Given the description of an element on the screen output the (x, y) to click on. 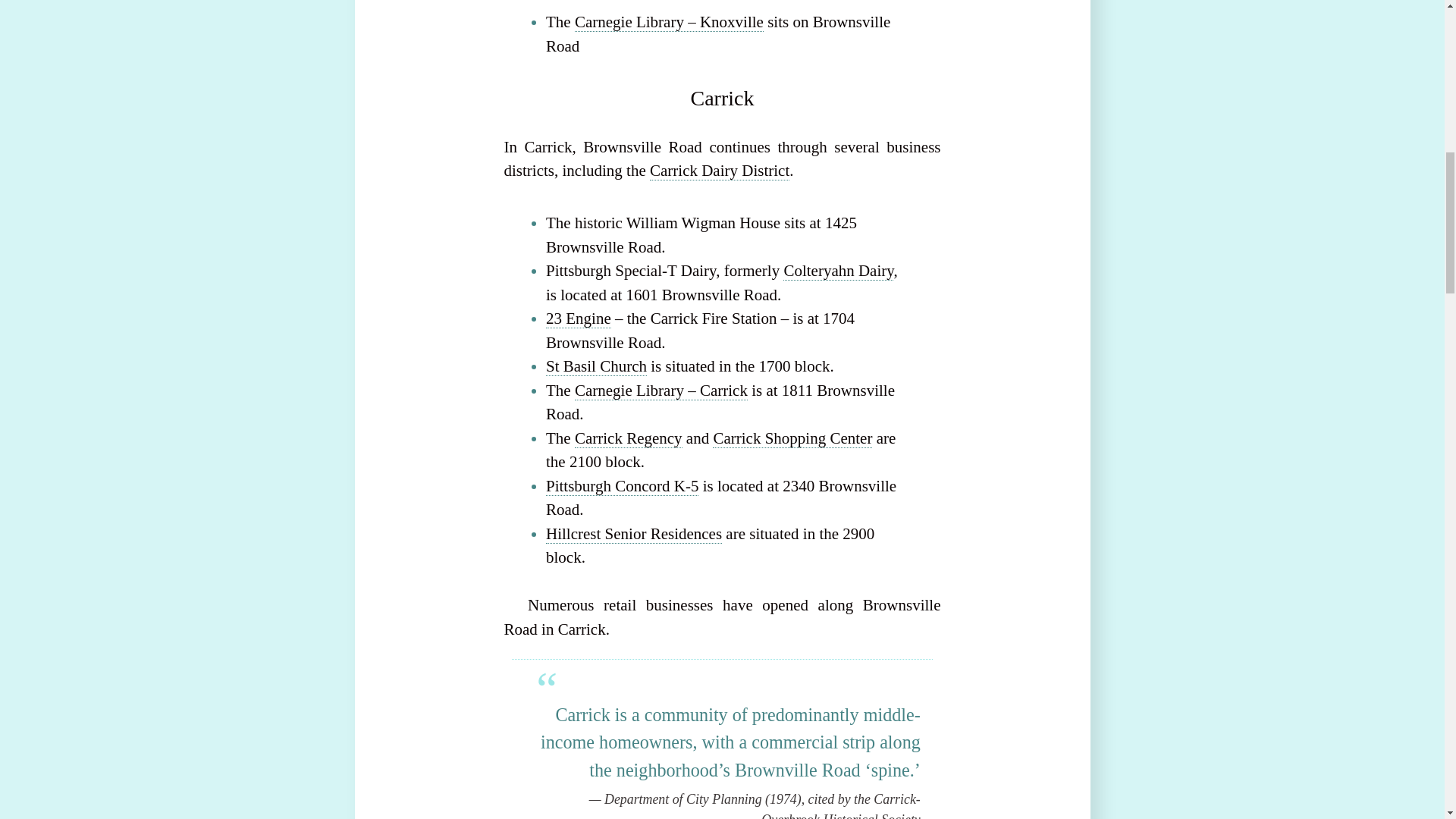
Hillcrest Senior Residences (634, 533)
Carrick Shopping Center (792, 438)
Pittsburgh Concord K-5 (622, 486)
Colteryahn Dairy (838, 270)
Carrick Regency (628, 438)
St Basil Church (596, 366)
23 Engine (578, 318)
Carrick-Overbrook Historical Society (840, 805)
Carrick Dairy District (719, 170)
